Given the description of an element on the screen output the (x, y) to click on. 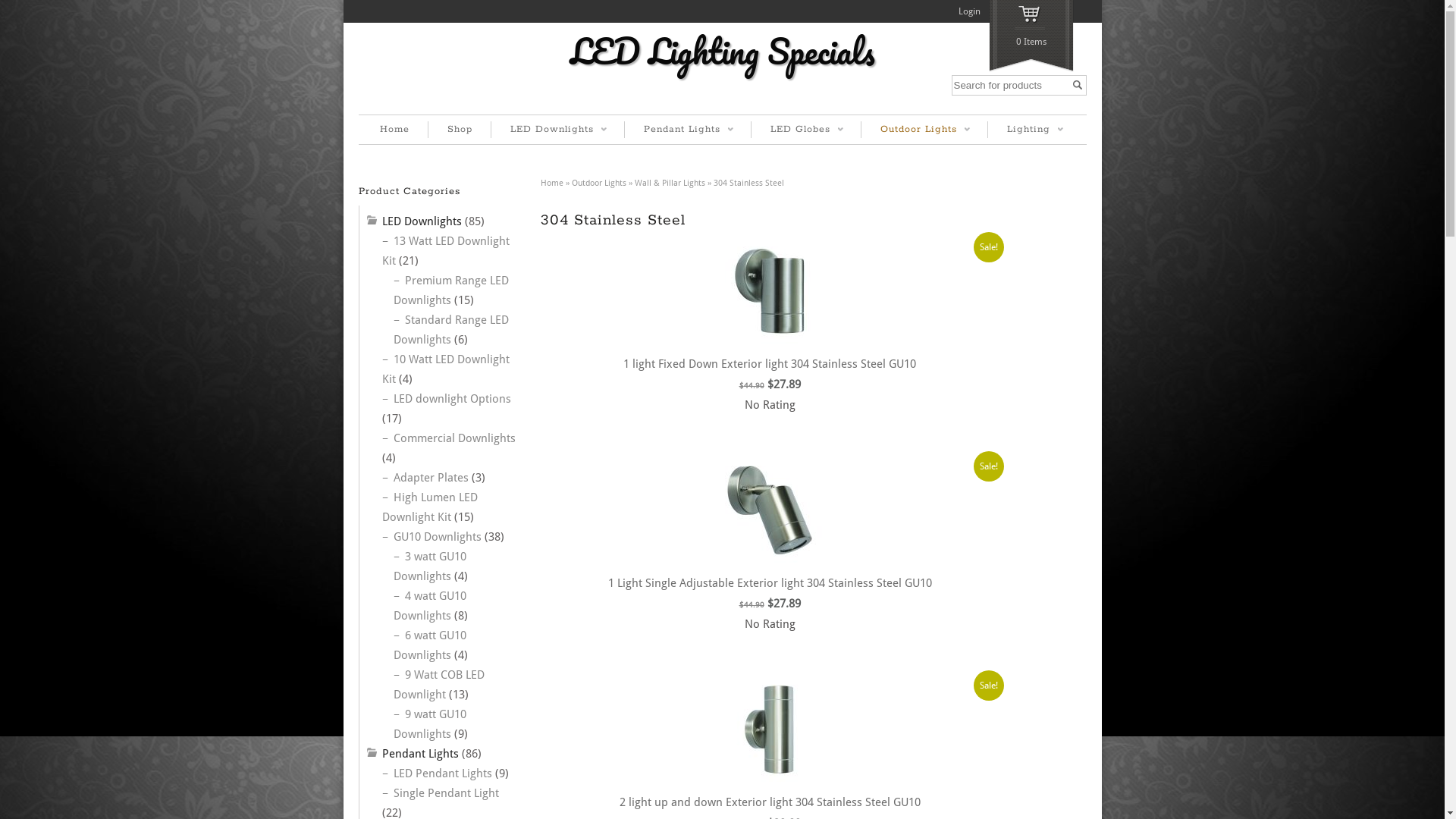
6 watt GU10 Downlights Element type: text (428, 645)
LED Lighting Specials Element type: text (721, 51)
9 Watt COB LED Downlight Element type: text (437, 684)
13 Watt LED Downlight Kit Element type: text (445, 250)
Home Element type: text (550, 183)
Standard Range LED Downlights Element type: text (450, 329)
Wall & Pillar Lights Element type: text (668, 183)
9 watt GU10 Downlights Element type: text (428, 723)
GU10 Downlights Element type: text (436, 536)
Search Element type: text (1076, 84)
Login Element type: text (969, 11)
LED Pendant Lights Element type: text (441, 773)
Shop Element type: text (459, 129)
4 watt GU10 Downlights Element type: text (428, 605)
Pendant Lights Element type: text (420, 753)
10 Watt LED Downlight Kit Element type: text (445, 368)
Home Element type: text (394, 129)
Adapter Plates Element type: text (429, 477)
High Lumen LED Downlight Kit Element type: text (429, 507)
LED downlight Options Element type: text (451, 398)
Commercial Downlights Element type: text (453, 438)
0 Items Element type: text (1030, 36)
LED Downlights Element type: text (421, 221)
Single Pendant Light Element type: text (445, 793)
Premium Range LED Downlights Element type: text (450, 290)
Outdoor Lights Element type: text (598, 183)
3 watt GU10 Downlights Element type: text (428, 566)
